Given the description of an element on the screen output the (x, y) to click on. 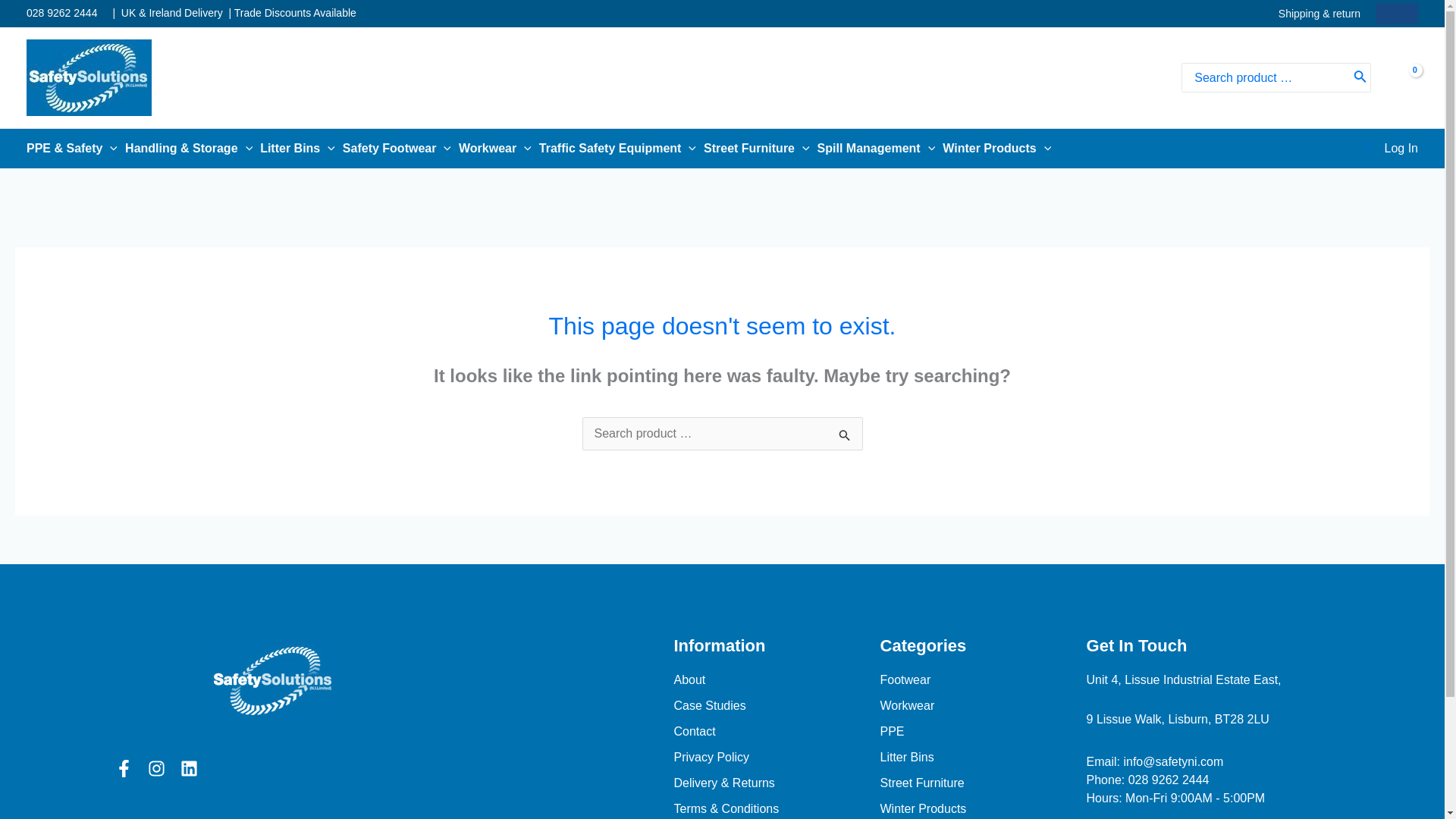
Workwear (498, 148)
Litter Bins (301, 148)
028 9262 2444 (61, 12)
Safety Footwear (400, 148)
